Given the description of an element on the screen output the (x, y) to click on. 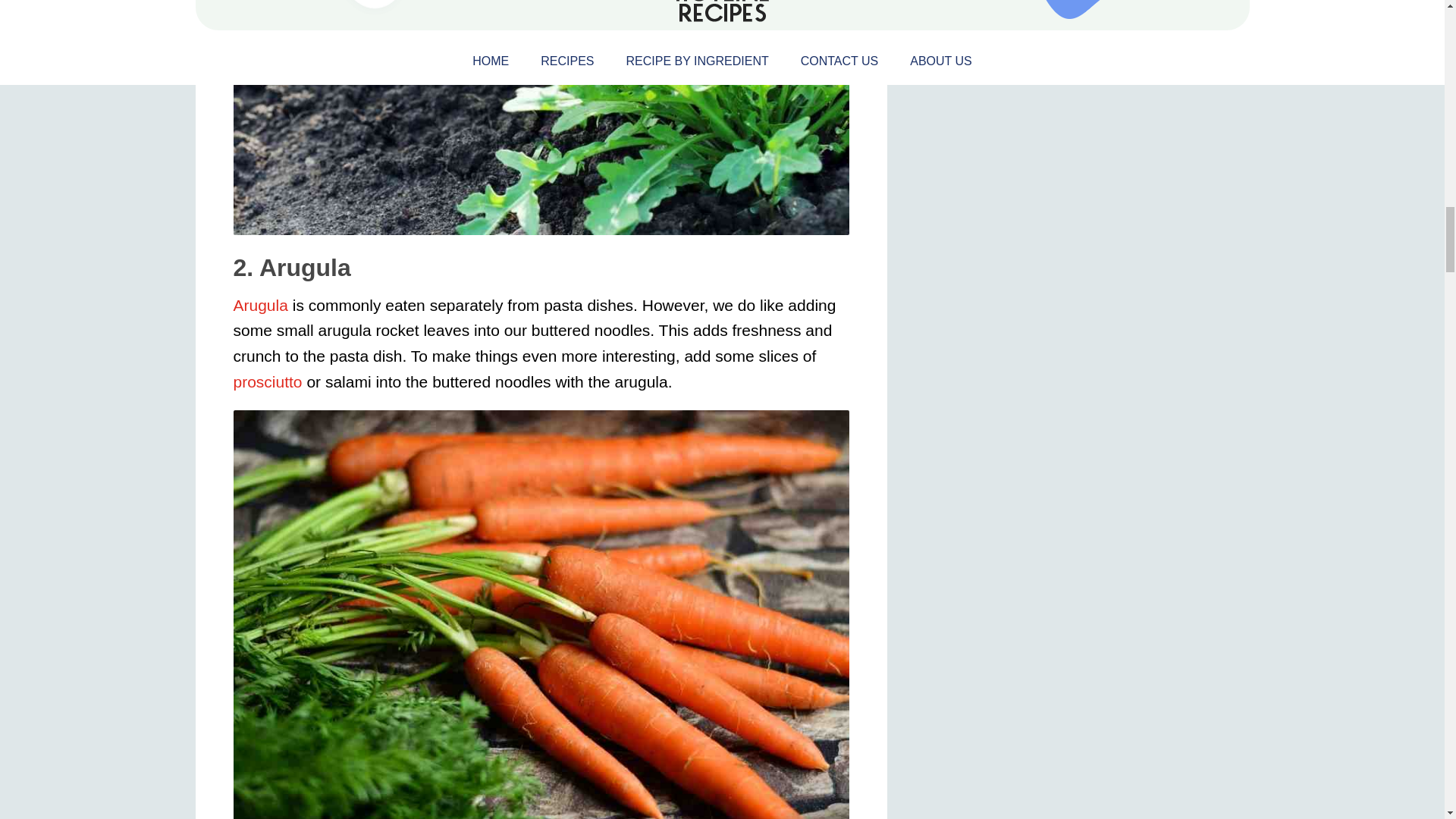
Arugula (260, 304)
prosciutto (267, 381)
